Given the description of an element on the screen output the (x, y) to click on. 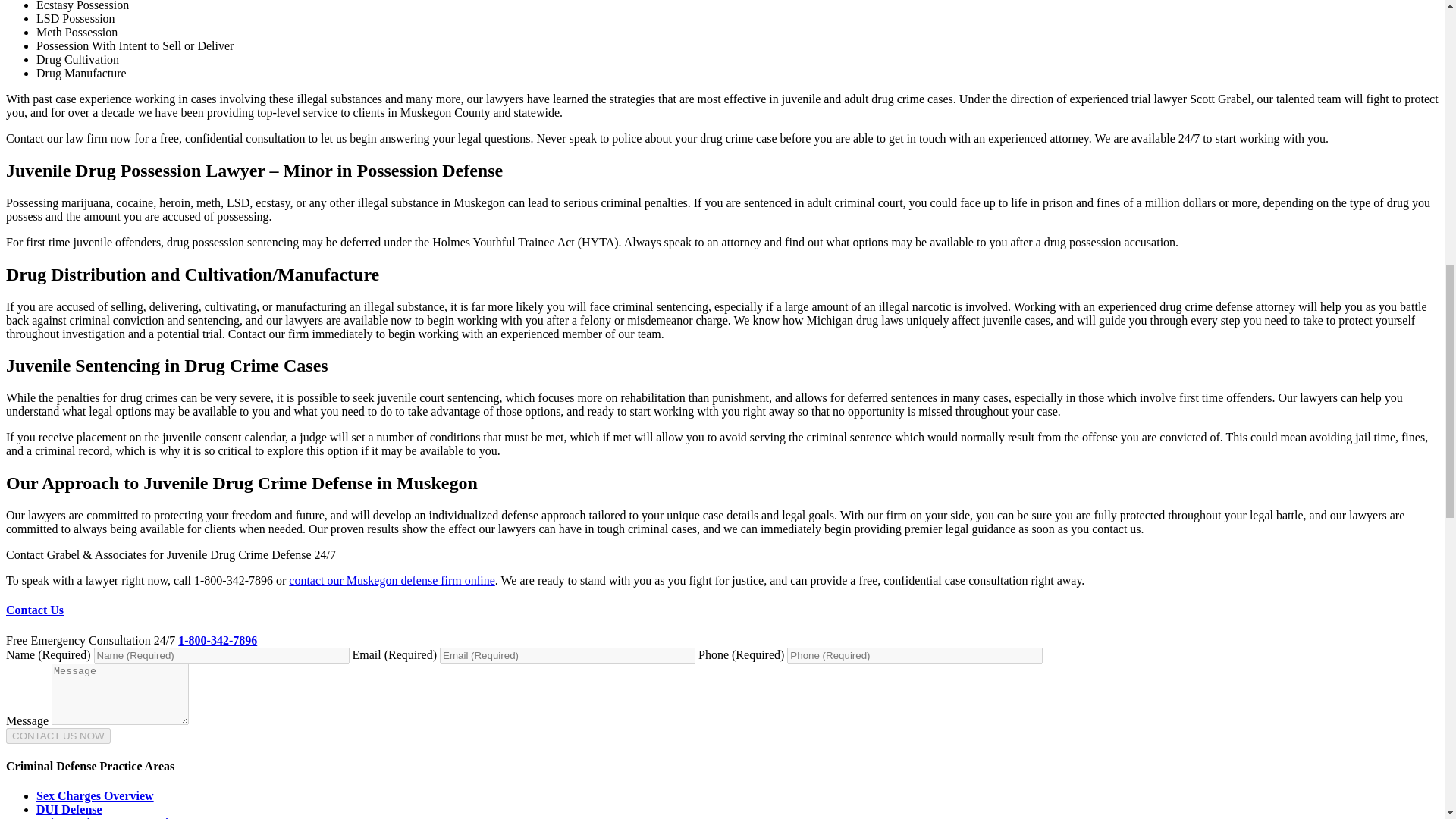
Contact Us (34, 609)
contact our Muskegon defense firm online (391, 580)
1-800-342-7896 (217, 640)
Sex Charges Overview (95, 795)
CONTACT US NOW (57, 735)
